Given the description of an element on the screen output the (x, y) to click on. 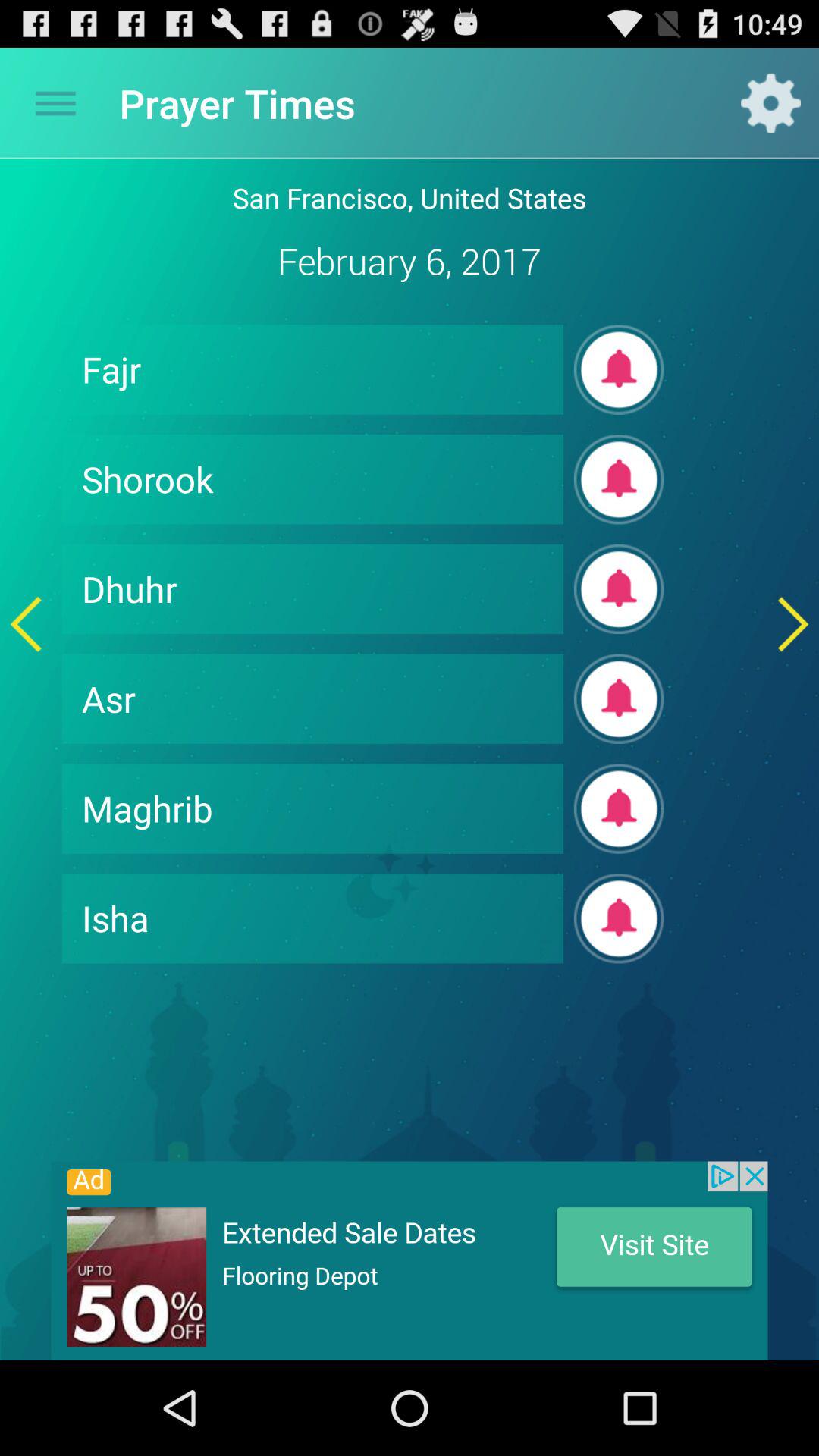
add alarm (618, 479)
